Given the description of an element on the screen output the (x, y) to click on. 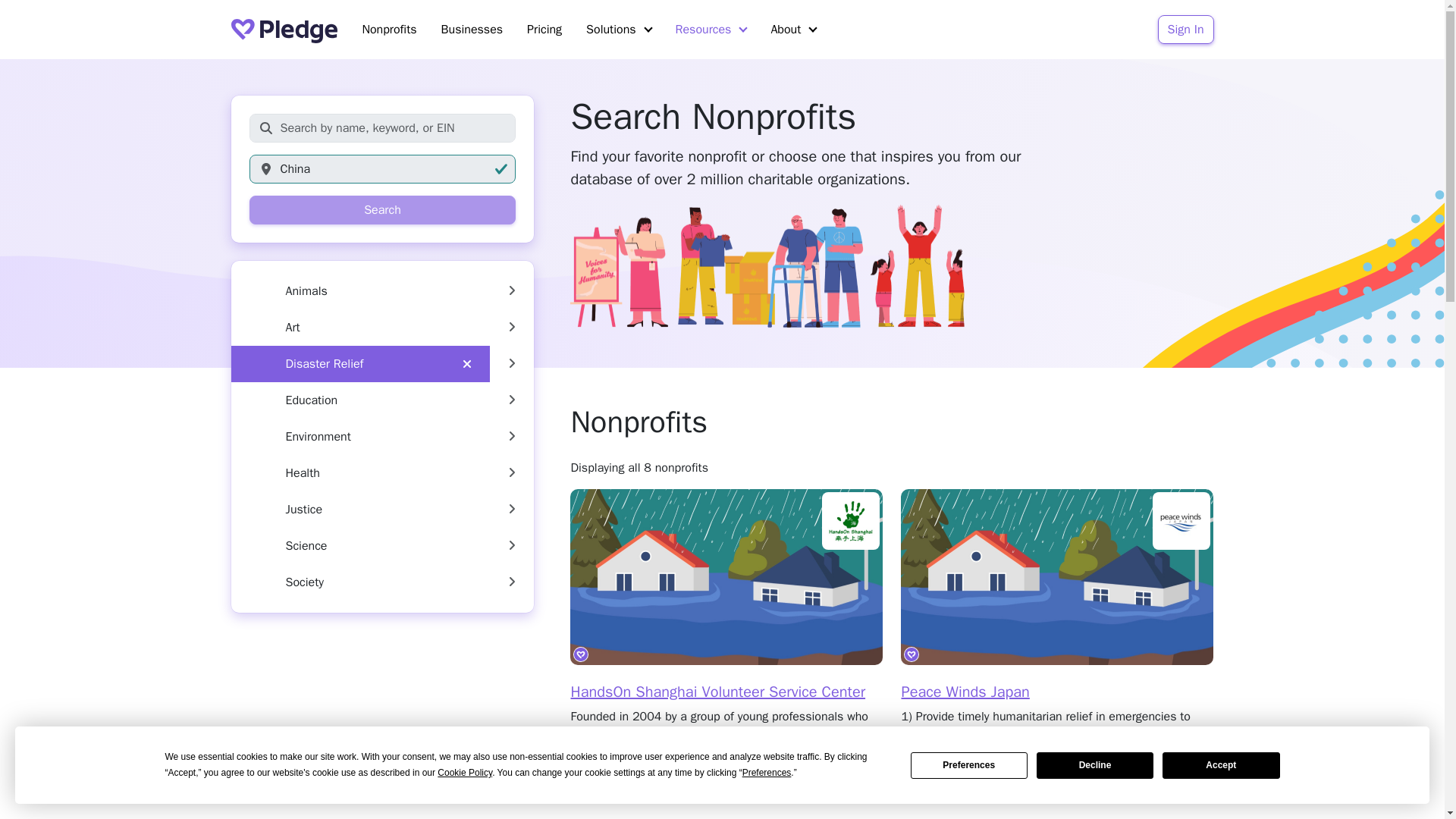
About (793, 29)
China (381, 168)
Accept (1220, 765)
Decline (1094, 765)
Businesses (472, 29)
Nonprofits (388, 29)
China (381, 168)
Pricing (544, 29)
Resources (710, 29)
Preferences (969, 765)
Solutions (617, 29)
Sign In (1185, 29)
